Given the description of an element on the screen output the (x, y) to click on. 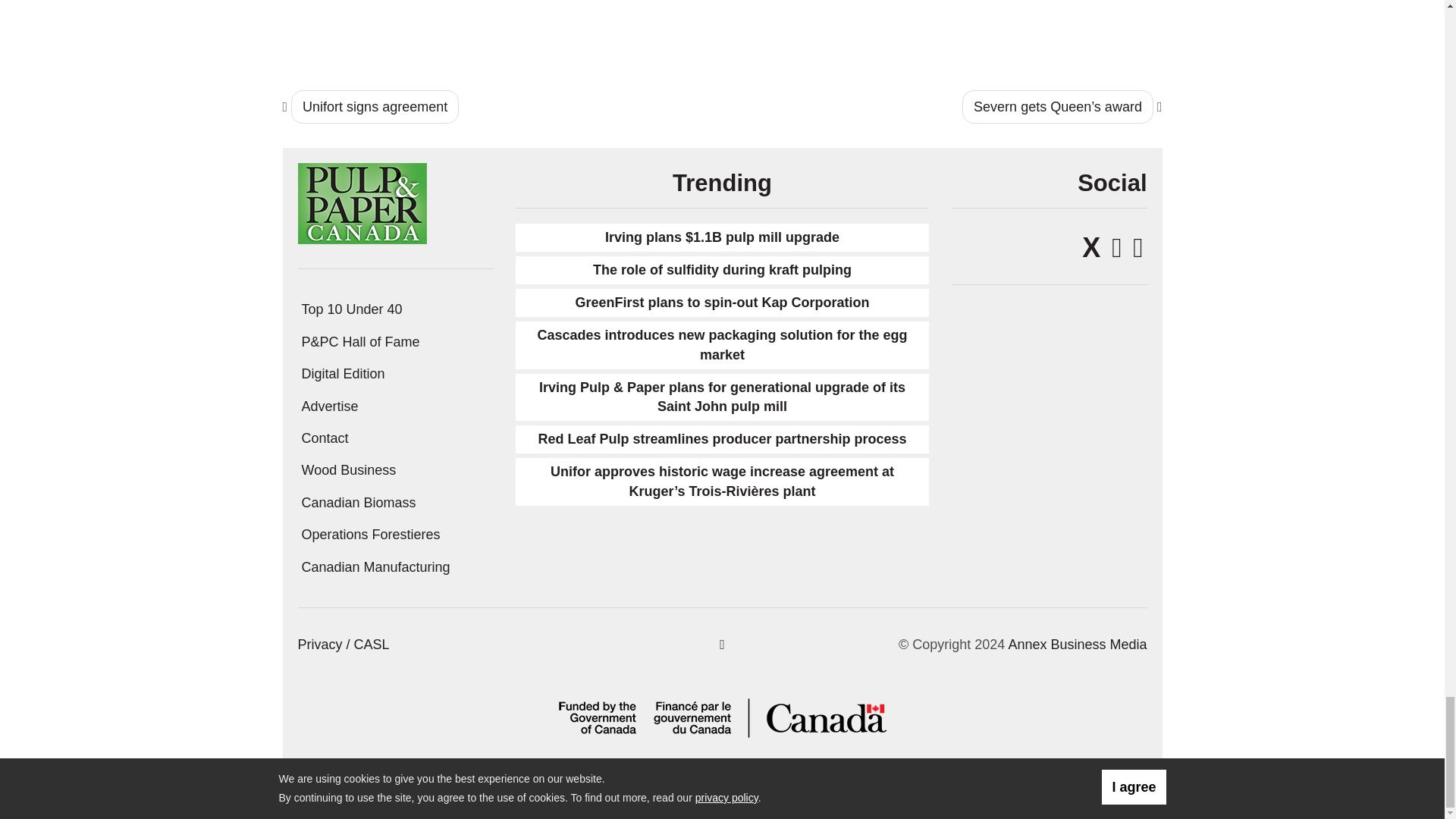
scroll to top (722, 644)
Pulp and Paper Canada (361, 202)
Annex Business Media (1077, 644)
